Given the description of an element on the screen output the (x, y) to click on. 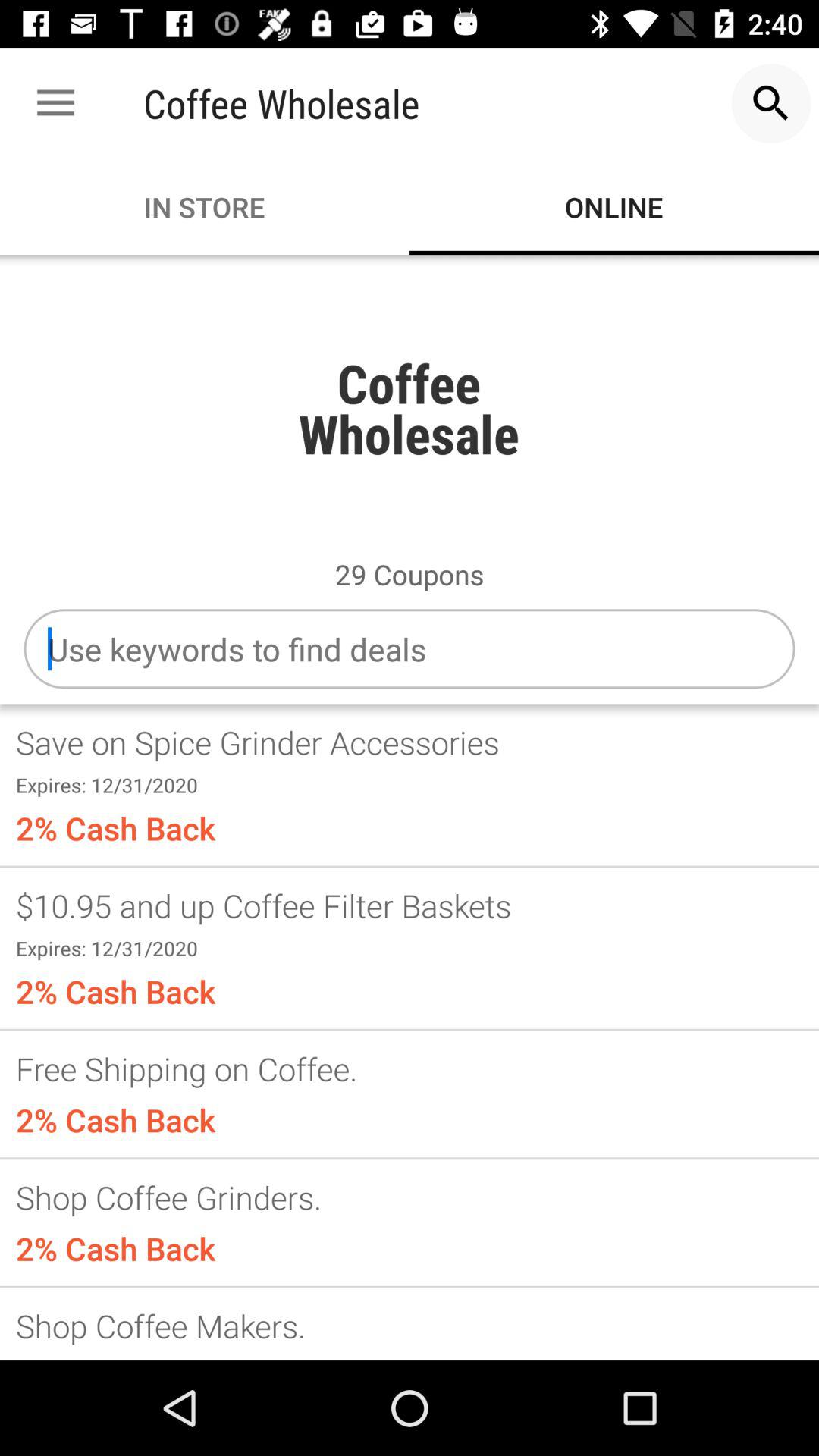
choose the icon to the left of the coffee wholesale app (55, 103)
